Given the description of an element on the screen output the (x, y) to click on. 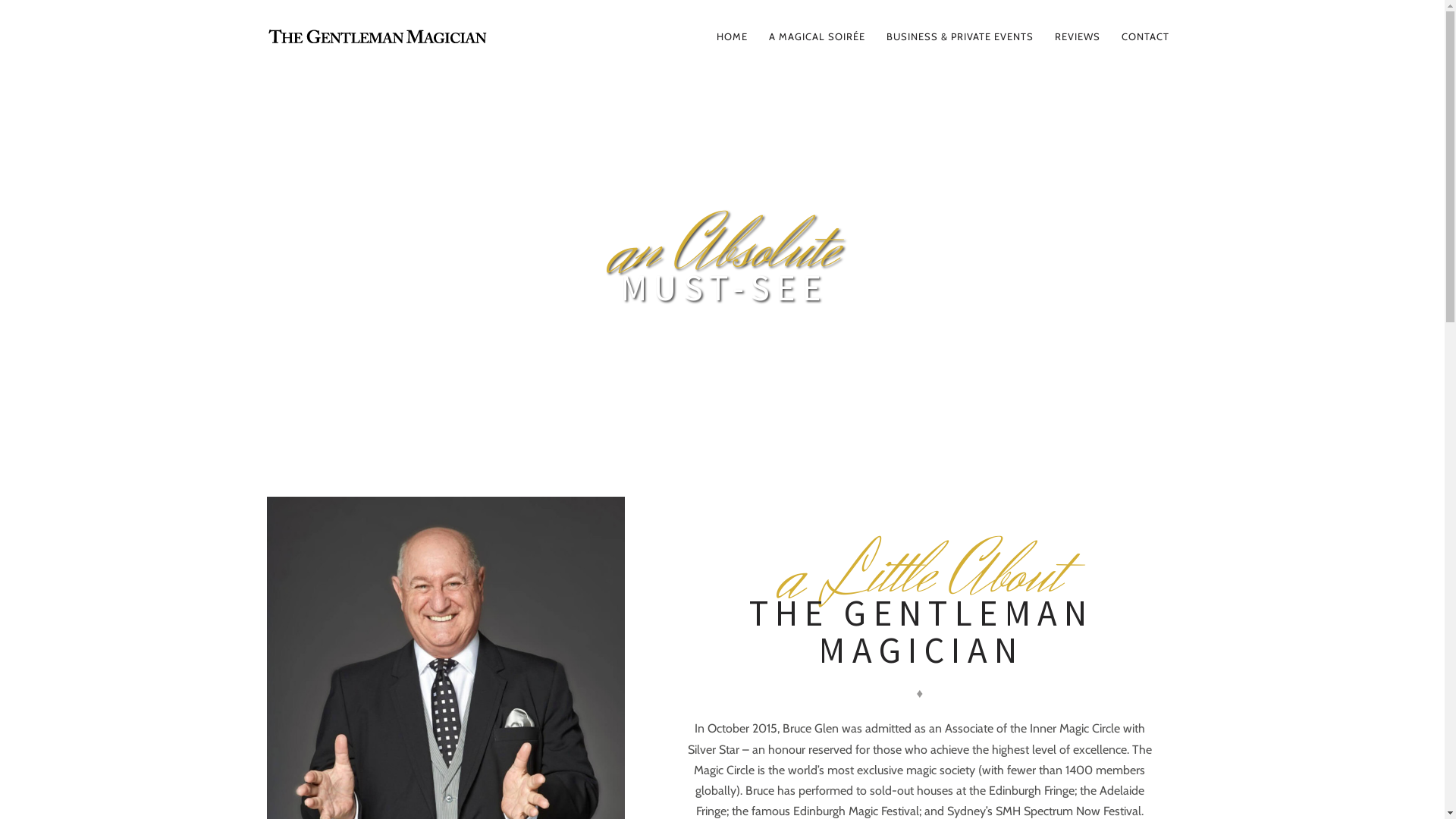
CONTACT Element type: text (1144, 35)
HOME Element type: text (731, 35)
The Gentleman Magician Element type: hover (416, 36)
REVIEWS Element type: text (1076, 35)
BUSINESS & PRIVATE EVENTS Element type: text (958, 35)
